Given the description of an element on the screen output the (x, y) to click on. 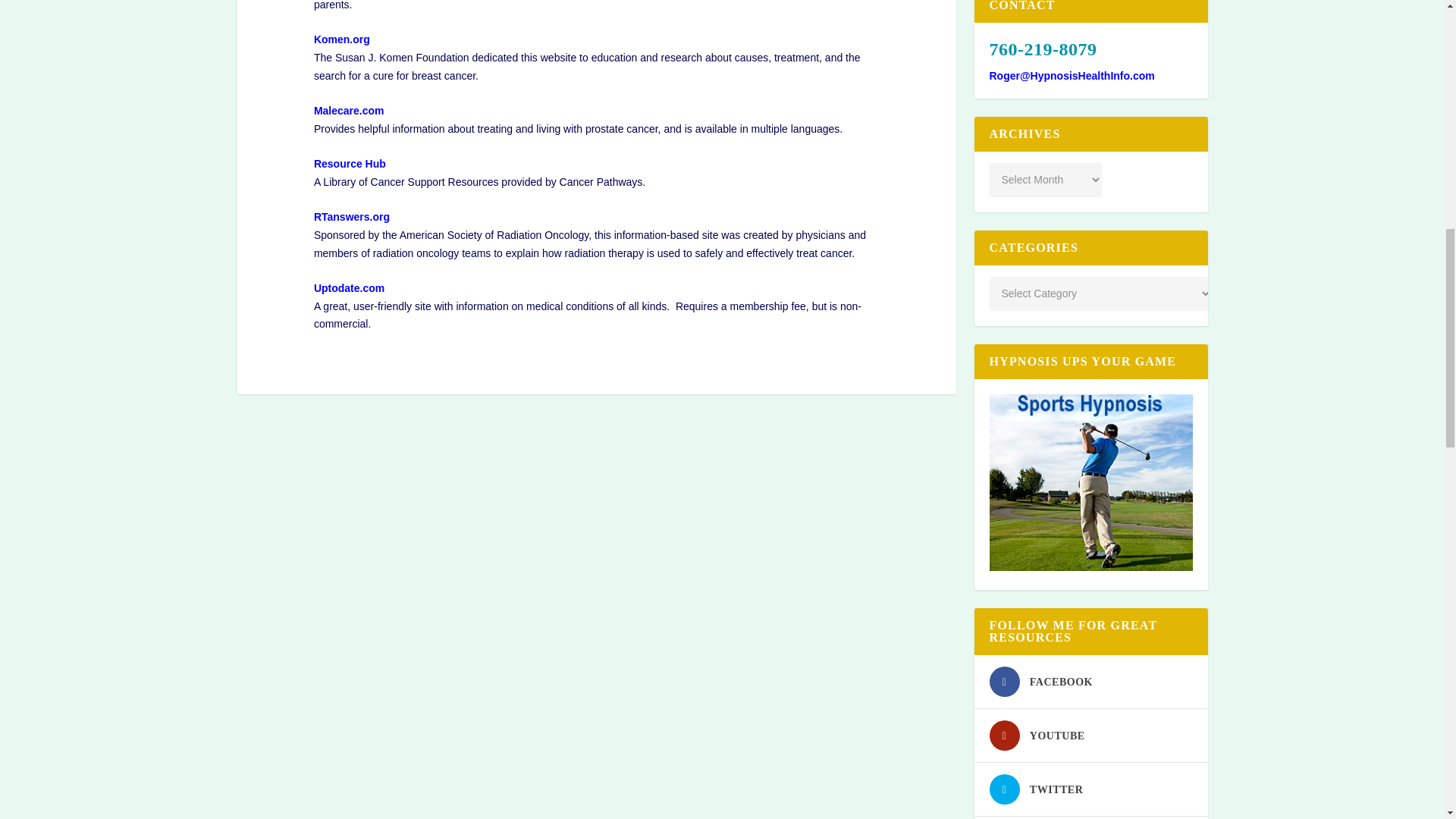
RTanswers.org (352, 216)
